Given the description of an element on the screen output the (x, y) to click on. 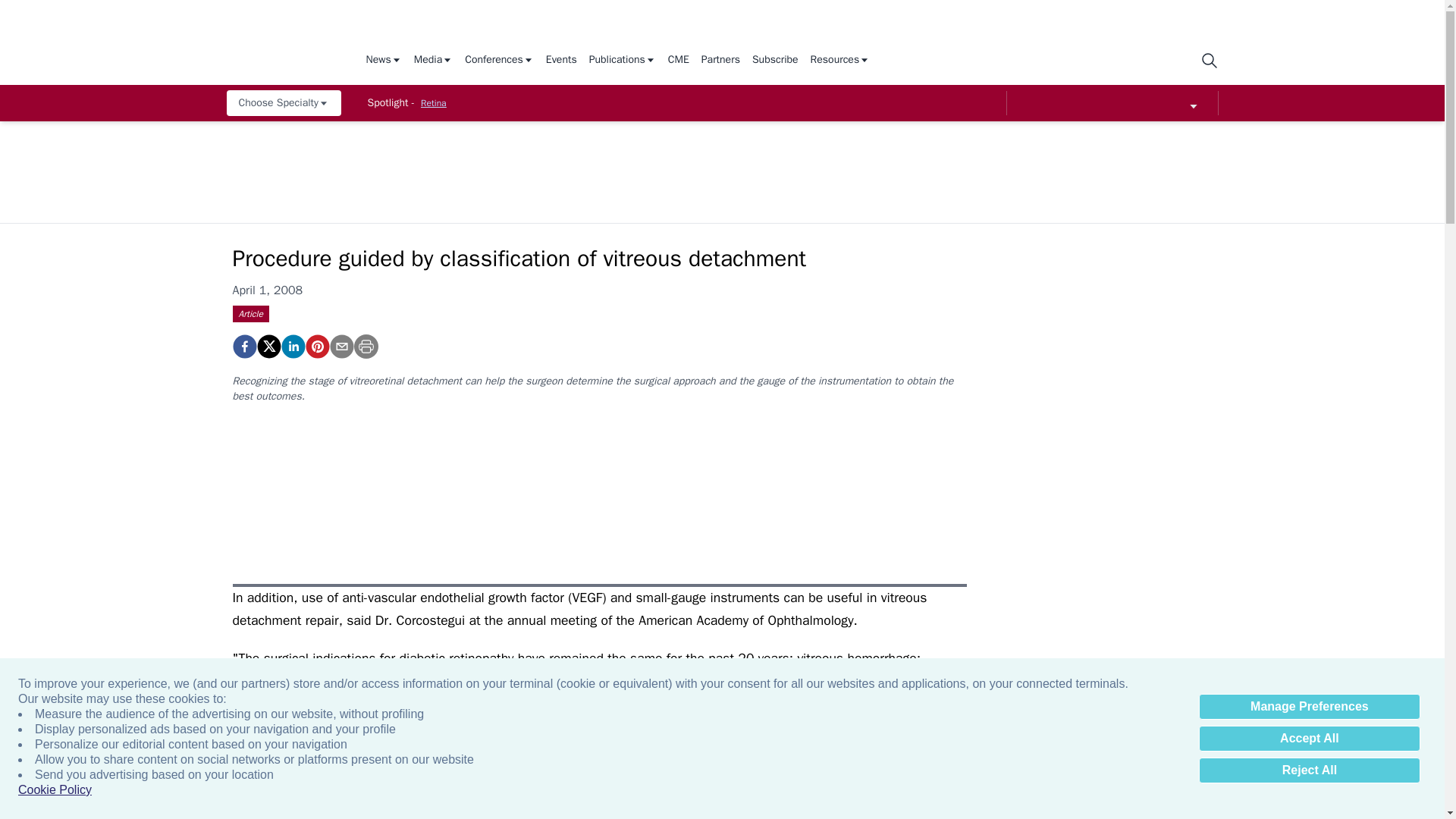
Partners (720, 60)
News (383, 60)
Resources (840, 60)
Events (561, 60)
Reject All (1309, 769)
Media (432, 60)
Conferences (499, 60)
Procedure guided by classification of vitreous detachment (243, 346)
Manage Preferences (1309, 706)
Subscribe (774, 60)
CME (678, 60)
Cookie Policy (54, 789)
Accept All (1309, 738)
Procedure guided by classification of vitreous detachment (316, 346)
Publications (622, 60)
